Given the description of an element on the screen output the (x, y) to click on. 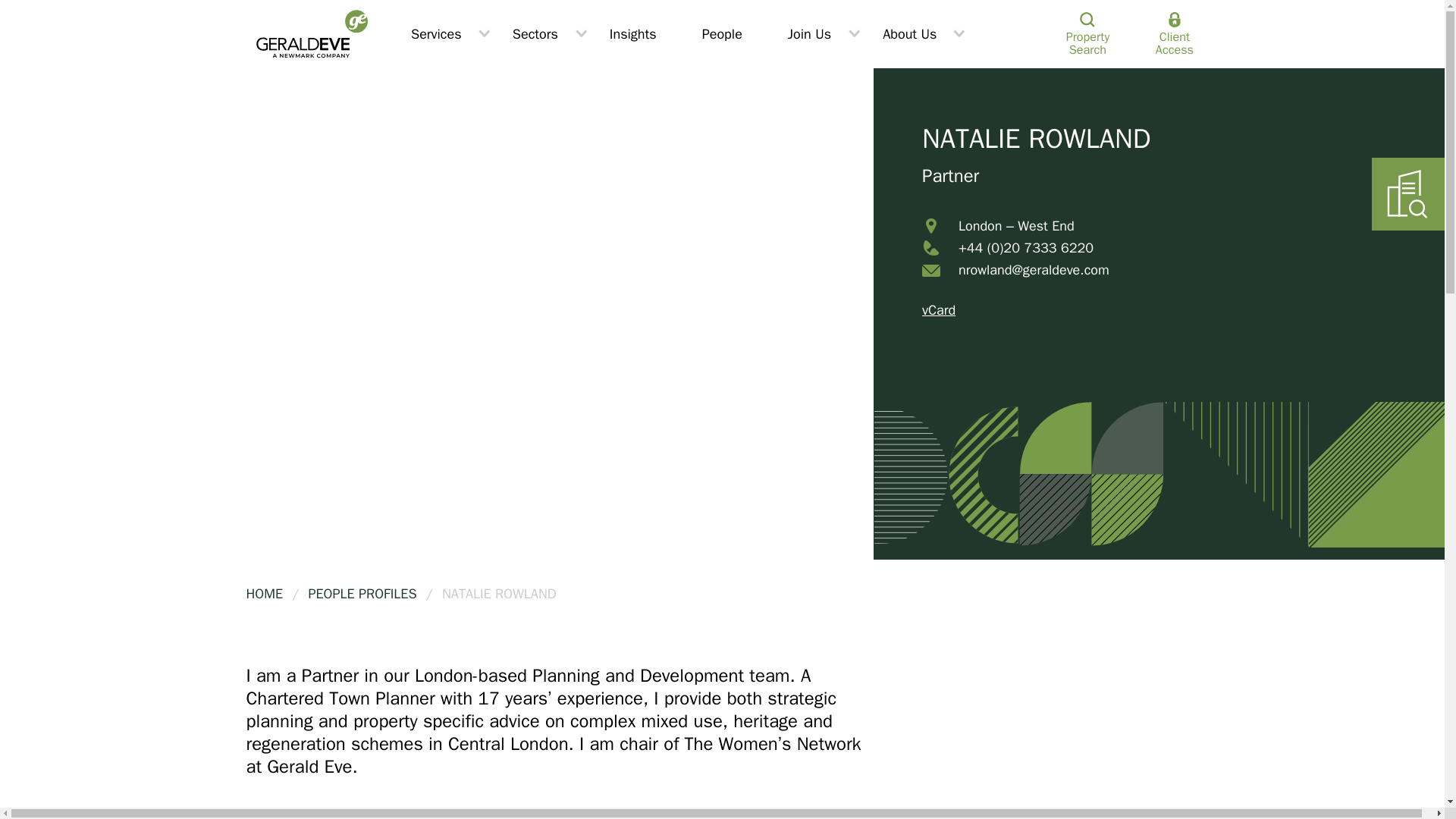
Services (438, 33)
